Given the description of an element on the screen output the (x, y) to click on. 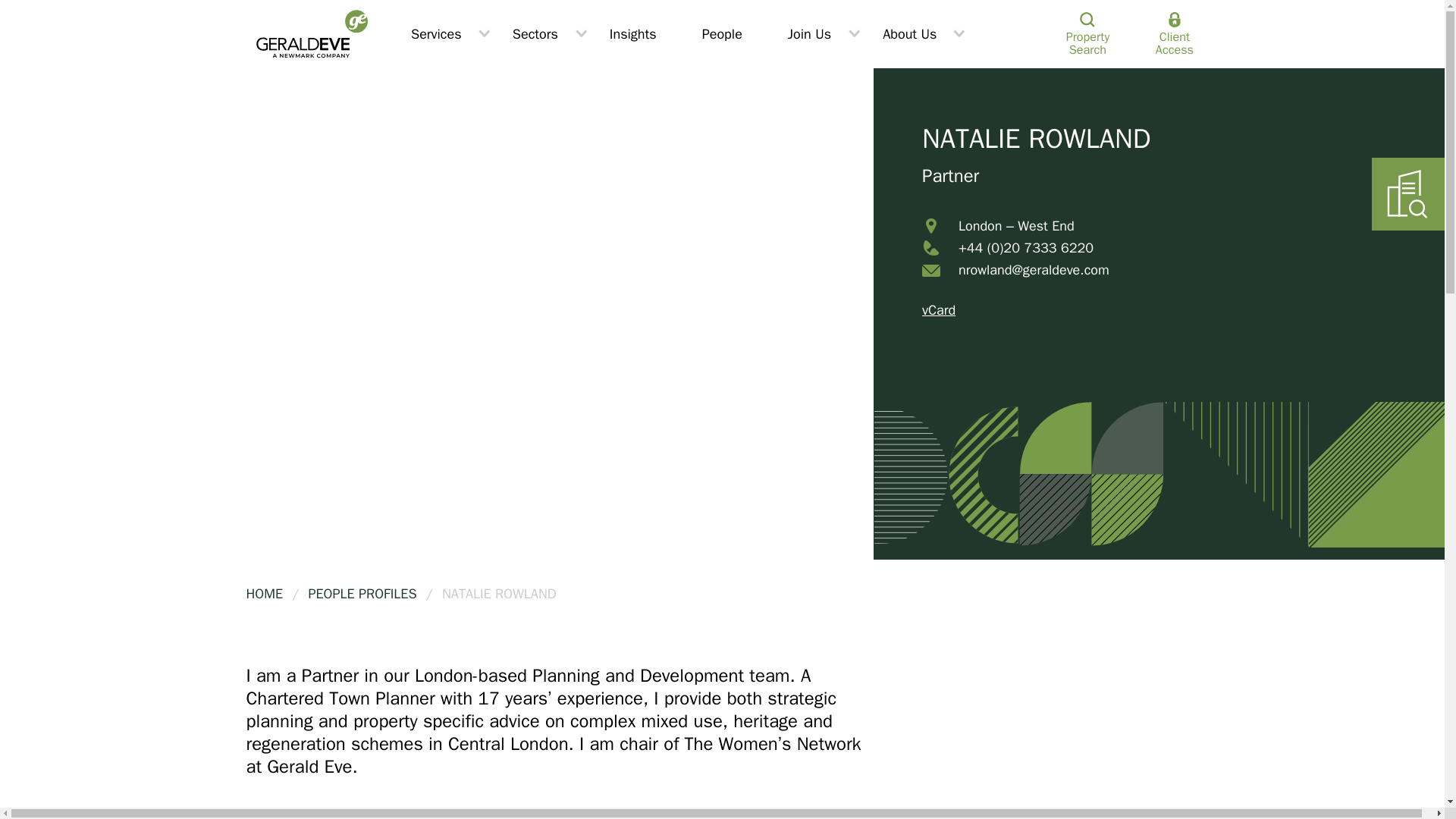
Services (438, 33)
